Given the description of an element on the screen output the (x, y) to click on. 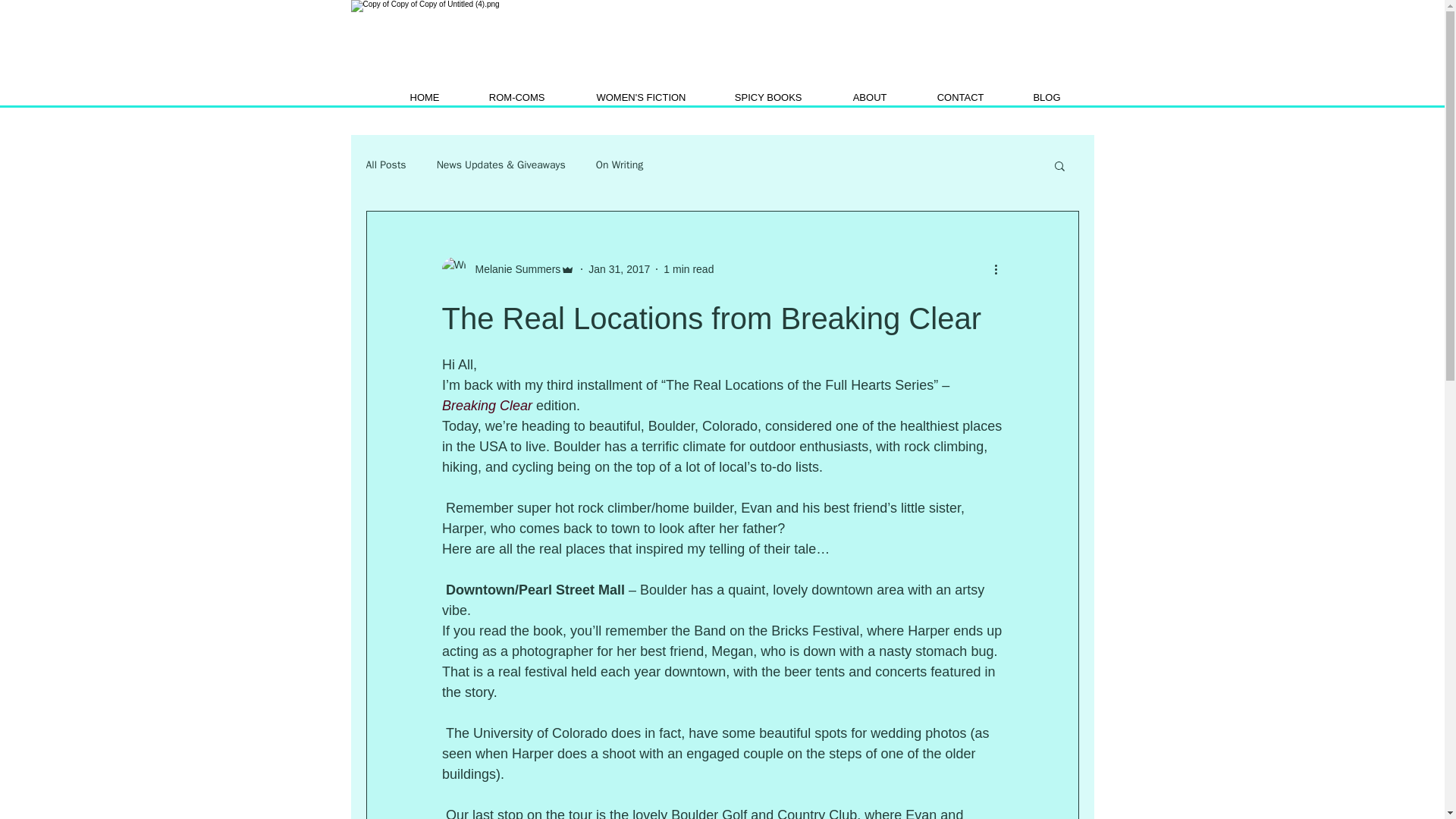
Jan 31, 2017 (618, 268)
1 min read (688, 268)
HOME (406, 97)
CONTACT (943, 97)
All Posts (385, 164)
ROM-COMS (499, 97)
On Writing (619, 164)
Breaking Clear  (488, 405)
ABOUT (852, 97)
WOMEN'S FICTION (623, 97)
